Given the description of an element on the screen output the (x, y) to click on. 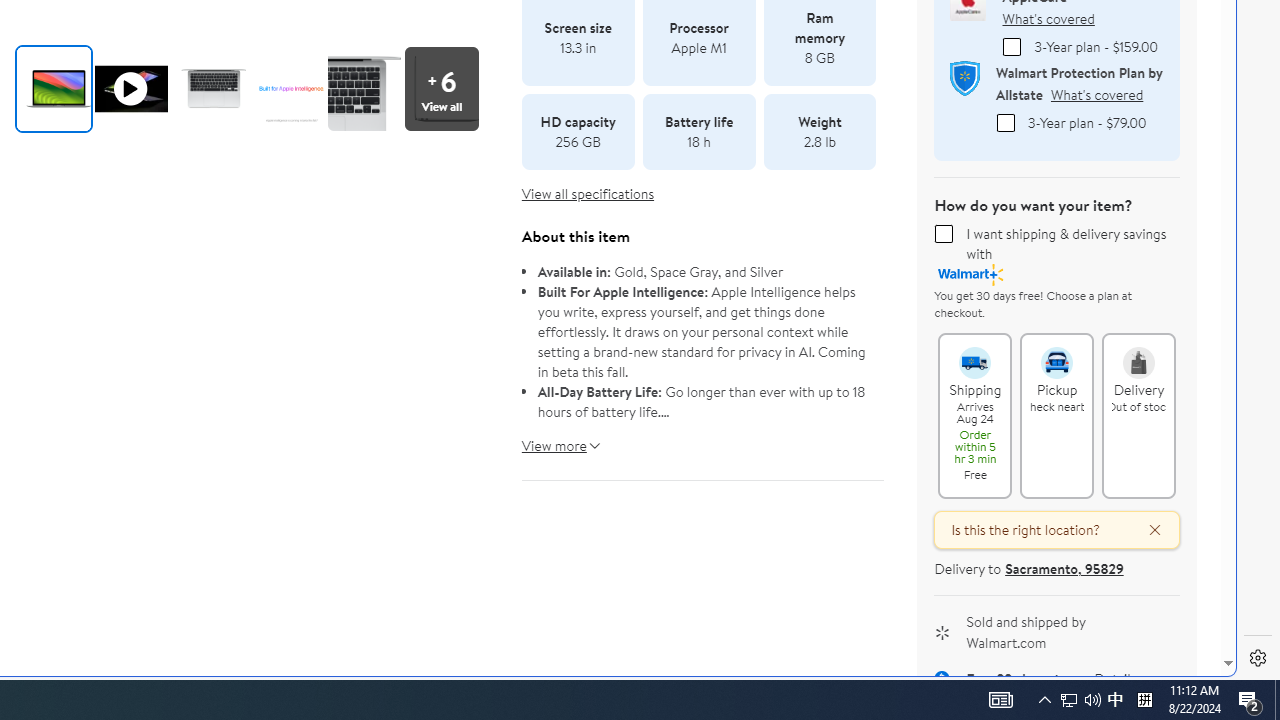
Delivery Out of stock (1138, 353)
Shipping Arrives Aug 24 Order within 5 hr 3 min Free (974, 353)
Walmart plus (971, 274)
Pickup Check nearby (1056, 353)
3-Year plan - $159.00 (1012, 47)
View all specifications (587, 193)
Details of Return policy (1115, 679)
View all media (447, 88)
